Given the description of an element on the screen output the (x, y) to click on. 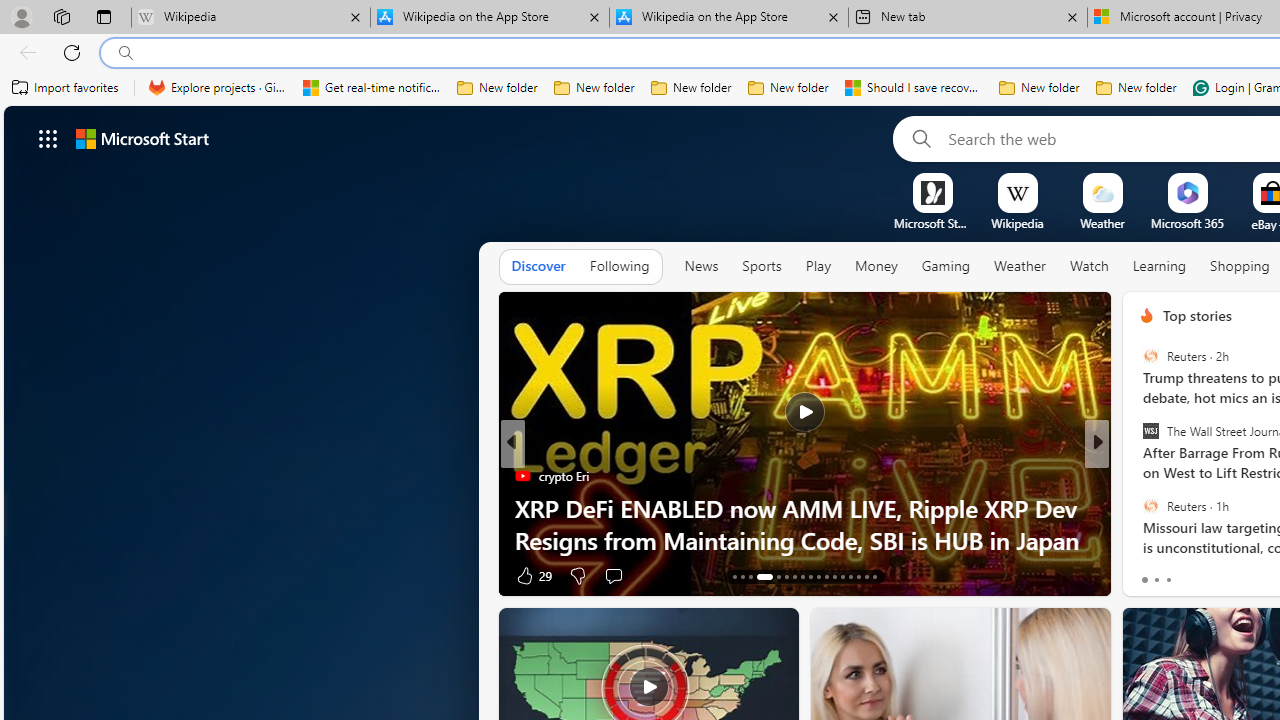
tab-0 (1143, 579)
ATP Fitness Pte Ltd (1180, 507)
TODAY (522, 475)
2 Like (1145, 574)
Play (818, 267)
MUO (1138, 507)
AutomationID: tab-13 (733, 576)
App launcher (47, 138)
AutomationID: tab-24 (833, 576)
Gaming (945, 267)
Shopping (1240, 265)
AutomationID: tab-28 (865, 576)
Should I save recovered Word documents? - Microsoft Support (913, 88)
